Given the description of an element on the screen output the (x, y) to click on. 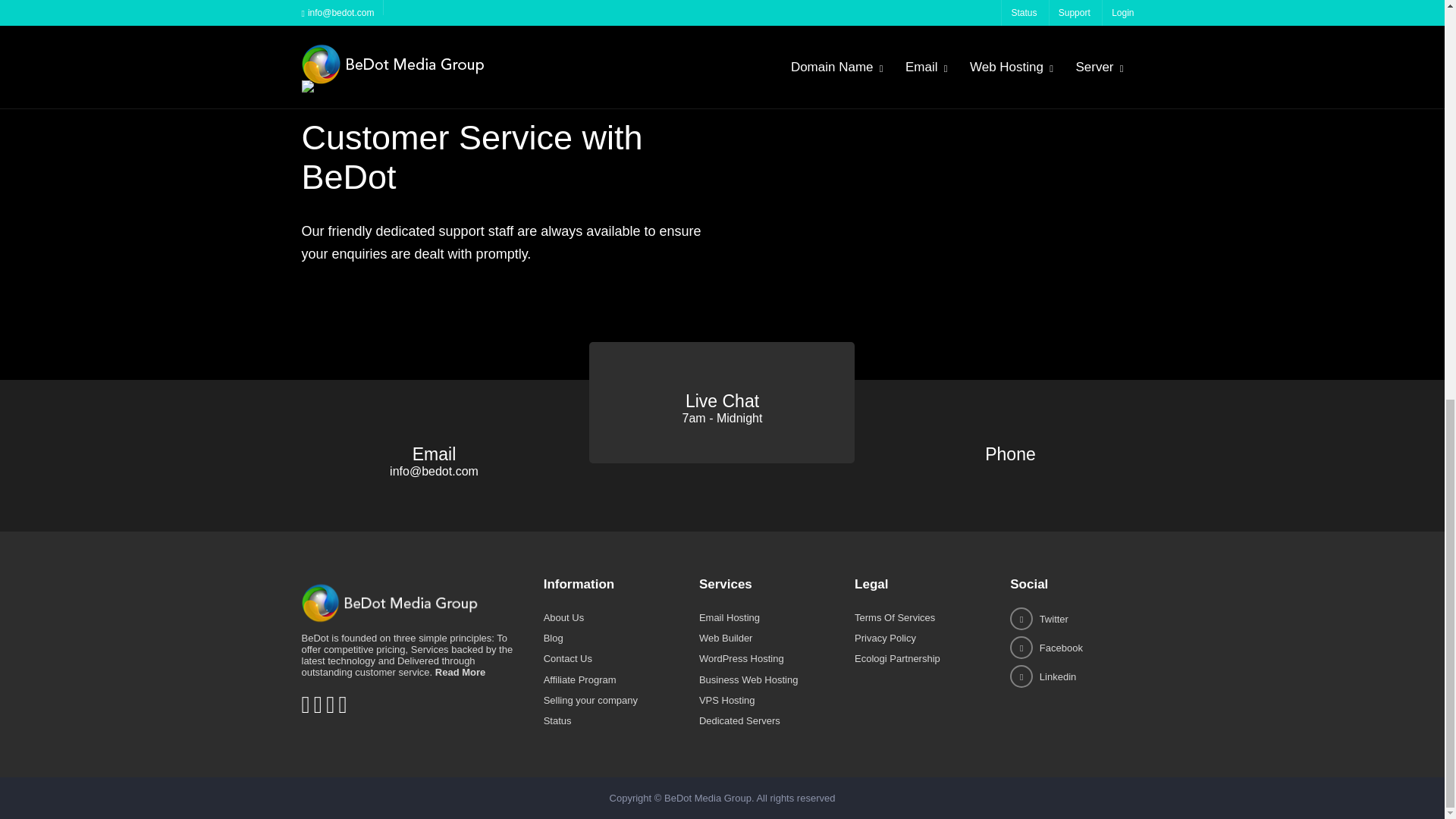
Blog (553, 756)
Contact Us (567, 776)
About Us (563, 736)
Selling your company (590, 816)
7am - Midnight (722, 535)
Read More (459, 790)
Affiliate Program (579, 797)
